Given the description of an element on the screen output the (x, y) to click on. 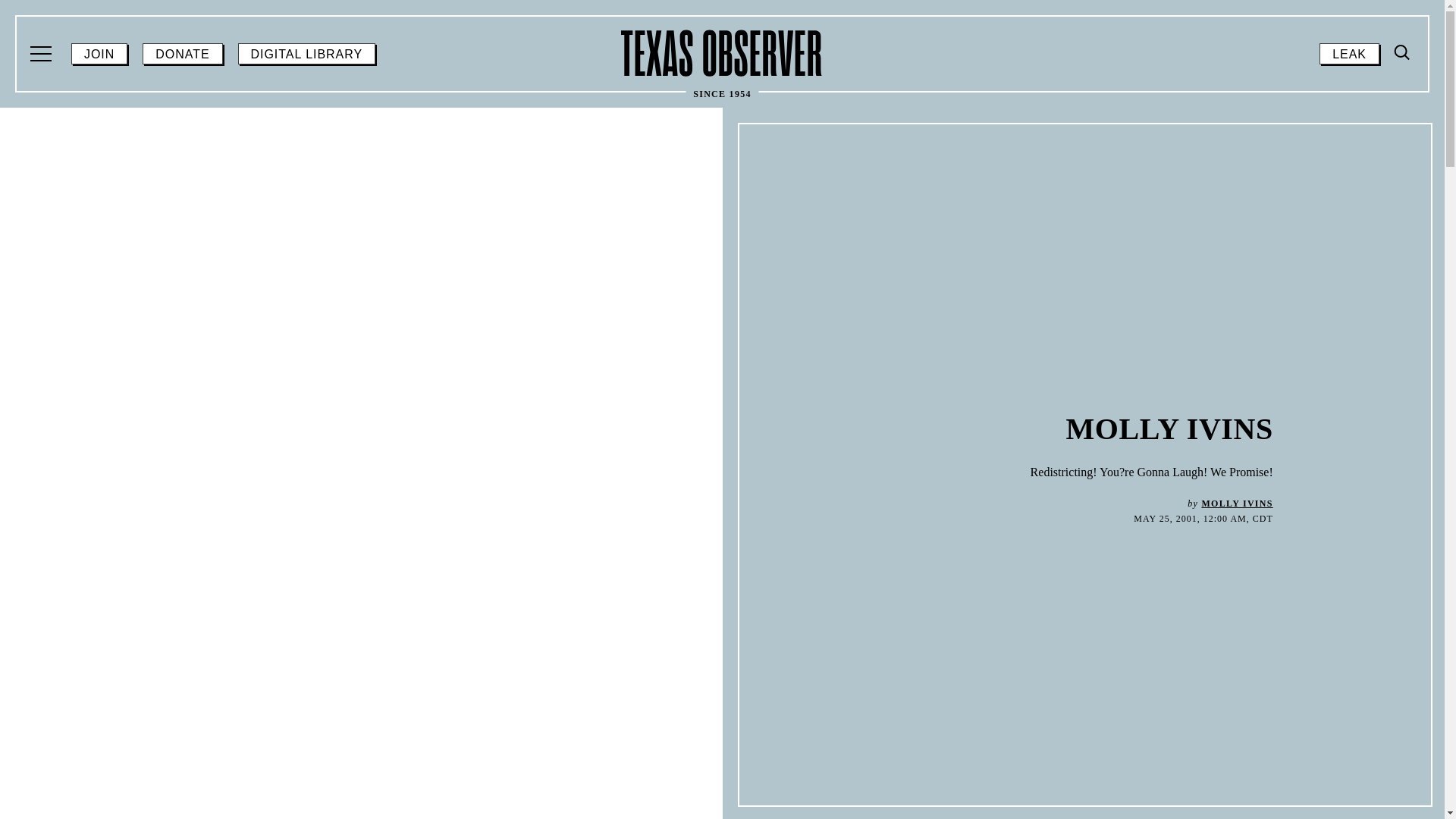
INDIGENOUS AFFAIRS (1075, 257)
THE TEXAS DEMOCRACY FOUNDATION (1093, 437)
Search icon (1402, 51)
MOLLY NATIONAL JOURNALISM PRIZES (252, 504)
SYNDICATION (1031, 490)
PHOTO ESSAYS (1042, 335)
Toggle Menu (1402, 53)
LABOR (42, 53)
DIGITAL LIBRARY (119, 296)
